Given the description of an element on the screen output the (x, y) to click on. 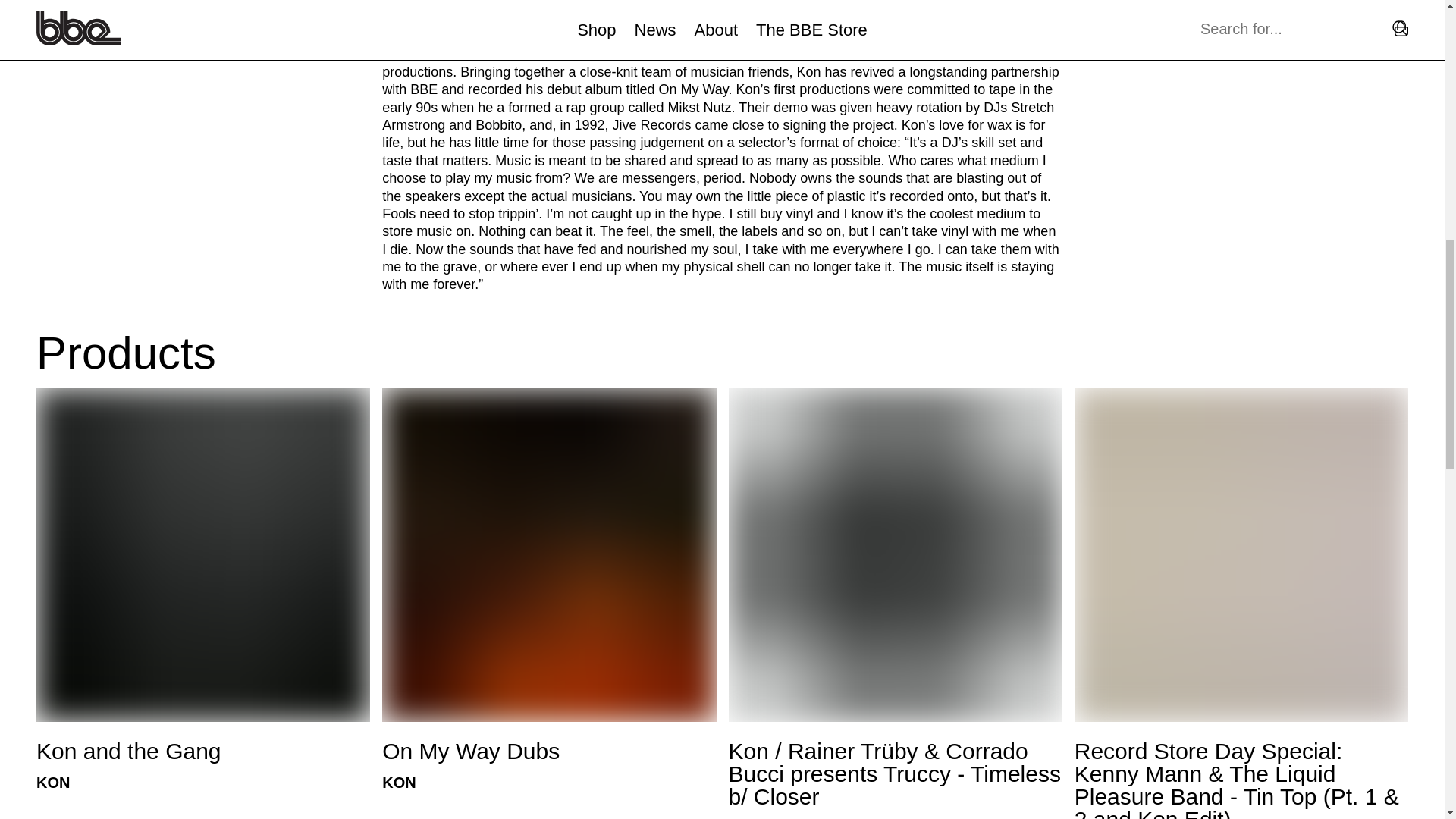
Kmann-Cover.jpg (1240, 554)
kondubs.png (548, 554)
BBE362cover.jpg (202, 554)
